Given the description of an element on the screen output the (x, y) to click on. 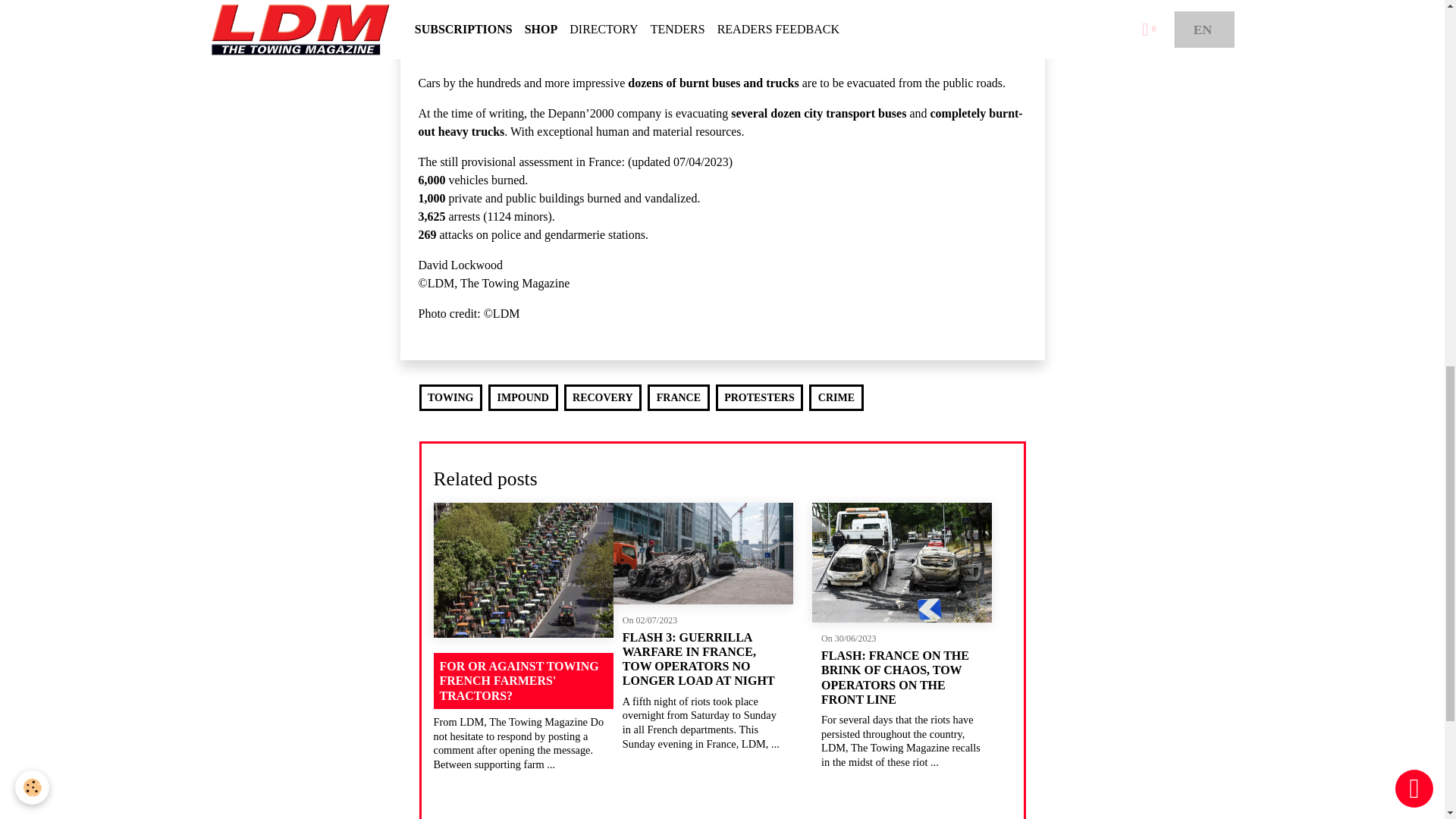
PROTESTERS (759, 397)
FRANCE (678, 397)
LDM, The Towing Magazine (788, 33)
FOR OR AGAINST TOWING FRENCH FARMERS' TRACTORS? (522, 680)
IMPOUND (522, 397)
RECOVERY (603, 397)
CRIME (836, 397)
TOWING (450, 397)
